Given the description of an element on the screen output the (x, y) to click on. 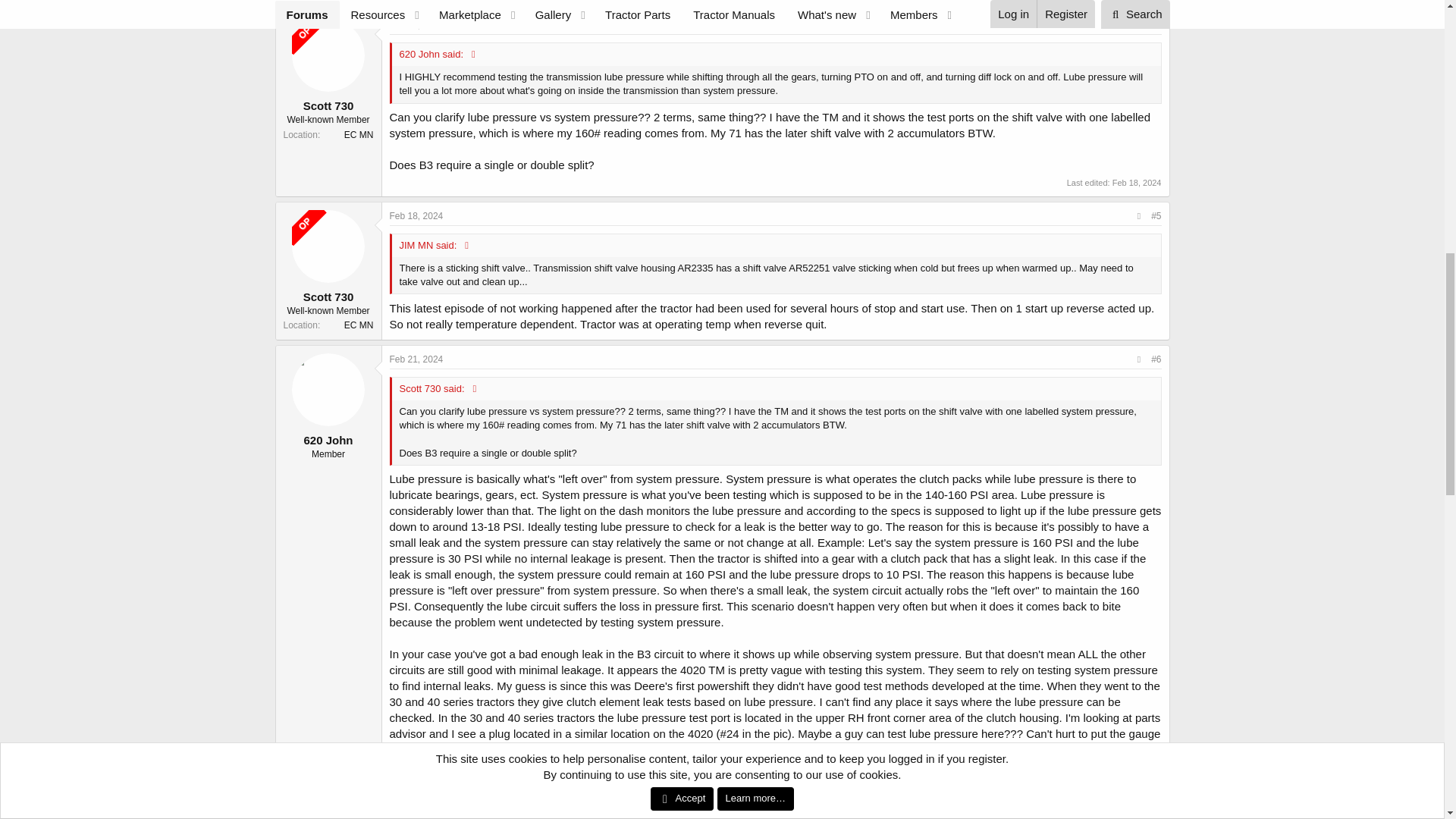
Feb 18, 2024 at 11:48 PM (417, 215)
Feb 18, 2024 at 11:43 PM (1136, 182)
4020 case.PNG (435, 812)
Feb 21, 2024 at 8:08 PM (417, 358)
Feb 18, 2024 at 11:35 PM (417, 24)
